Given the description of an element on the screen output the (x, y) to click on. 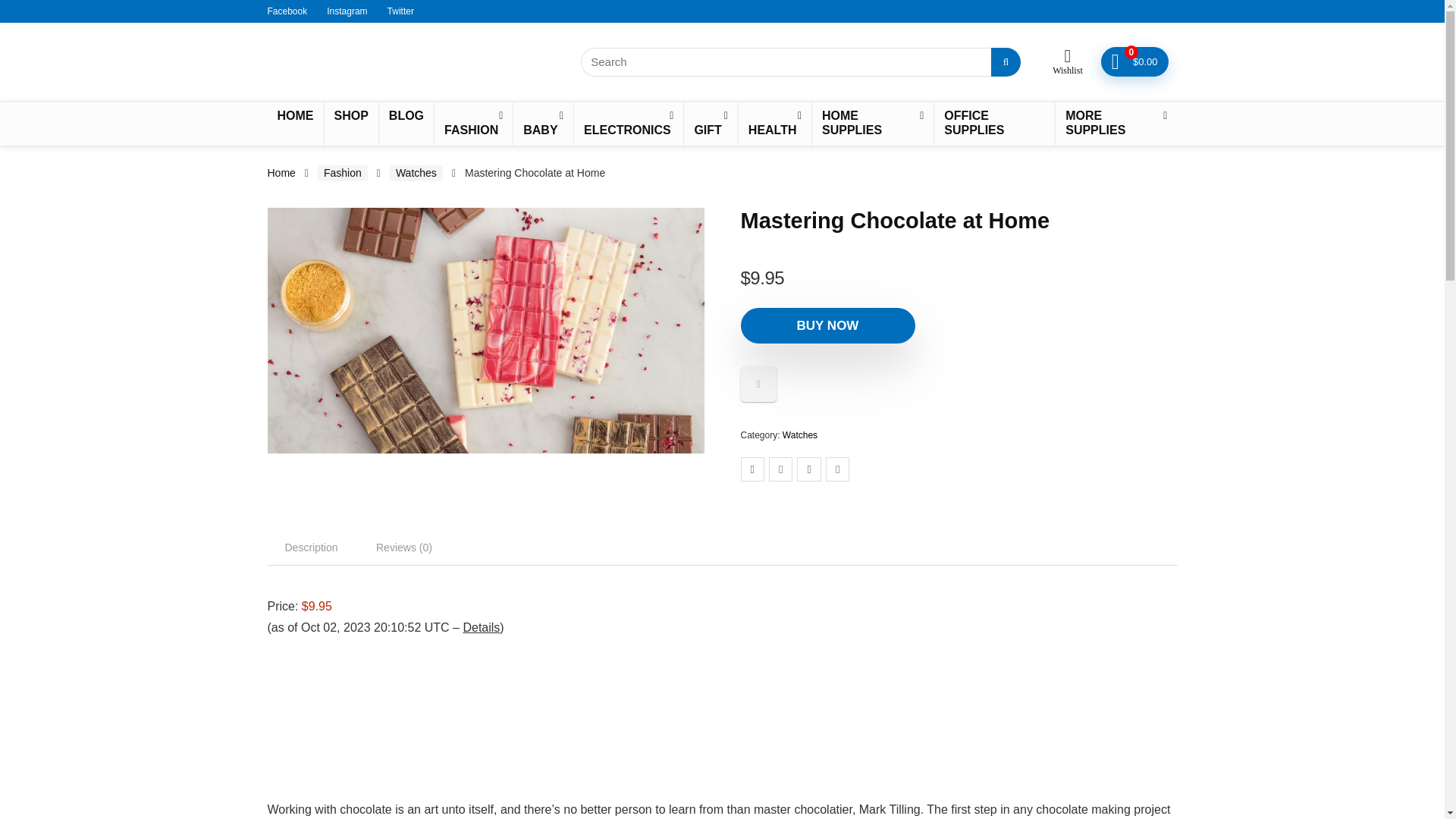
GIFT (710, 123)
Facebook (286, 10)
HOME (294, 116)
BABY (543, 123)
Instagram (346, 10)
ELECTRONICS (627, 123)
SHOP (351, 116)
BLOG (405, 116)
FASHION (472, 123)
Twitter (400, 10)
